Given the description of an element on the screen output the (x, y) to click on. 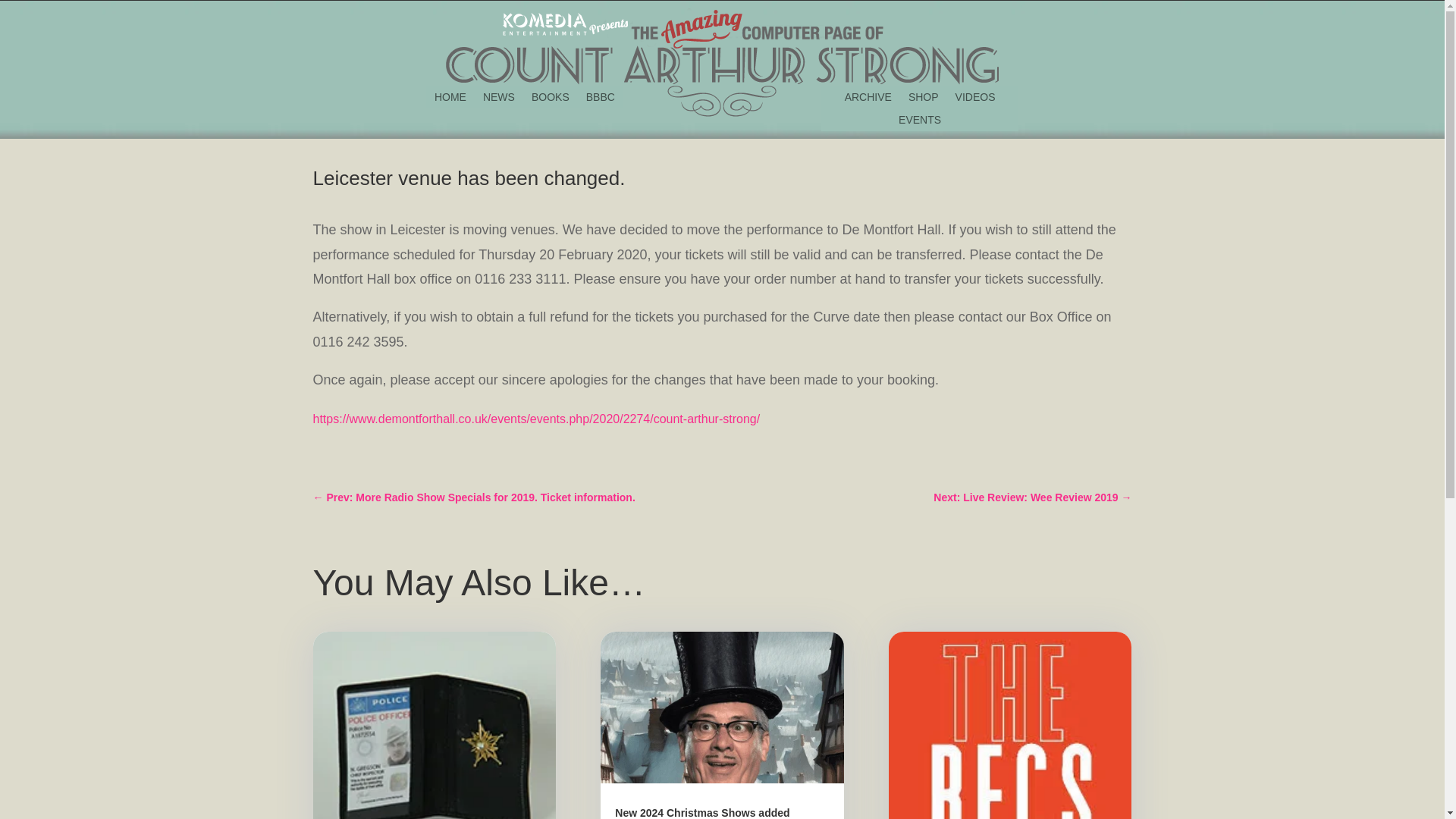
BOOKS (550, 99)
SHOP (923, 99)
header4 (721, 46)
NEWS (499, 99)
VIDEOS (975, 99)
HOME (449, 99)
ARCHIVE (867, 99)
HOME (449, 99)
BBBC (600, 99)
Header Scroll (721, 101)
New 2024 Christmas Shows added (701, 812)
EVENTS (919, 122)
